Given the description of an element on the screen output the (x, y) to click on. 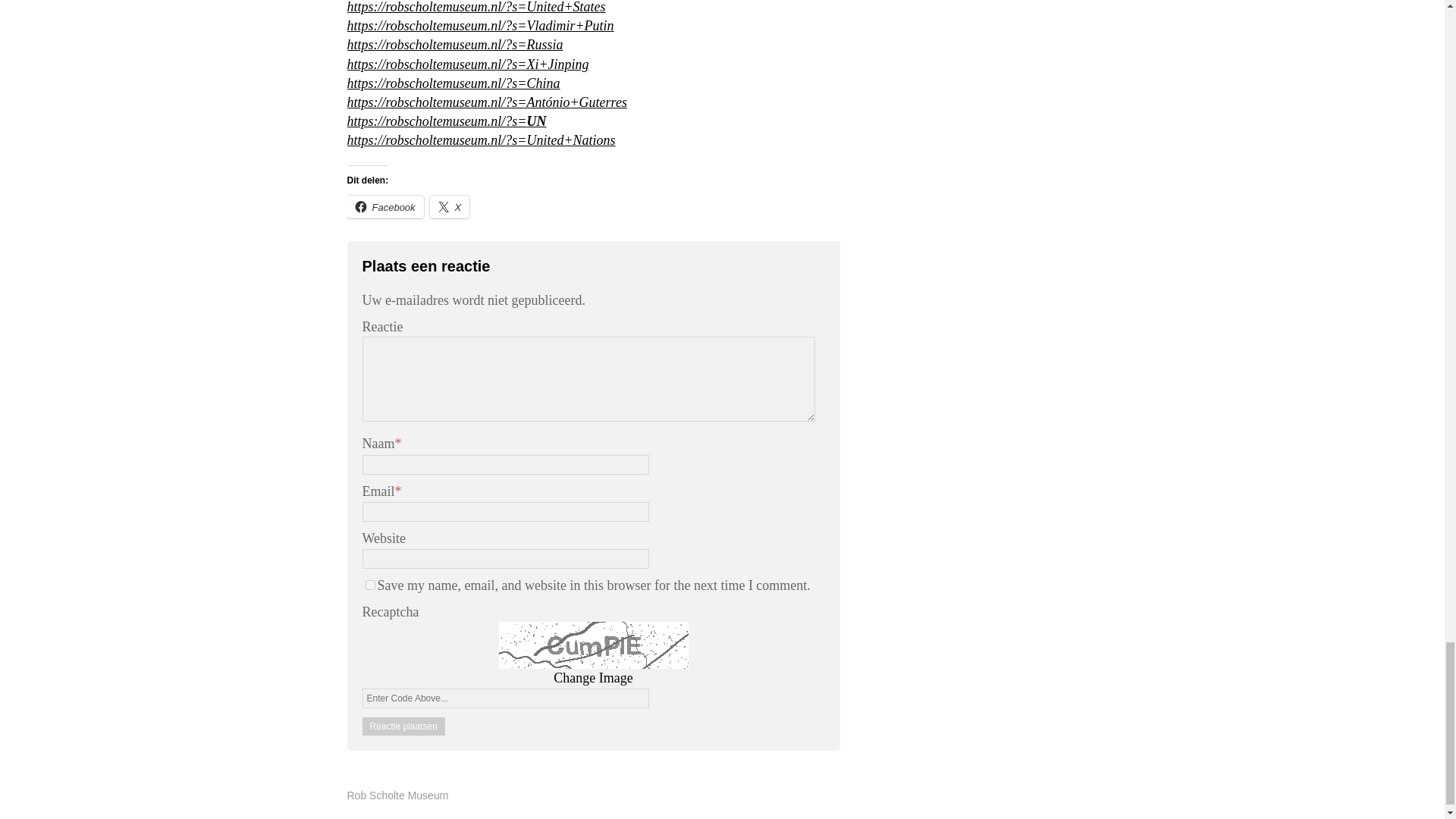
yes (370, 584)
Klik om te delen op X (449, 206)
Reactie plaatsen (403, 726)
Klik om te delen op Facebook (385, 206)
